Given the description of an element on the screen output the (x, y) to click on. 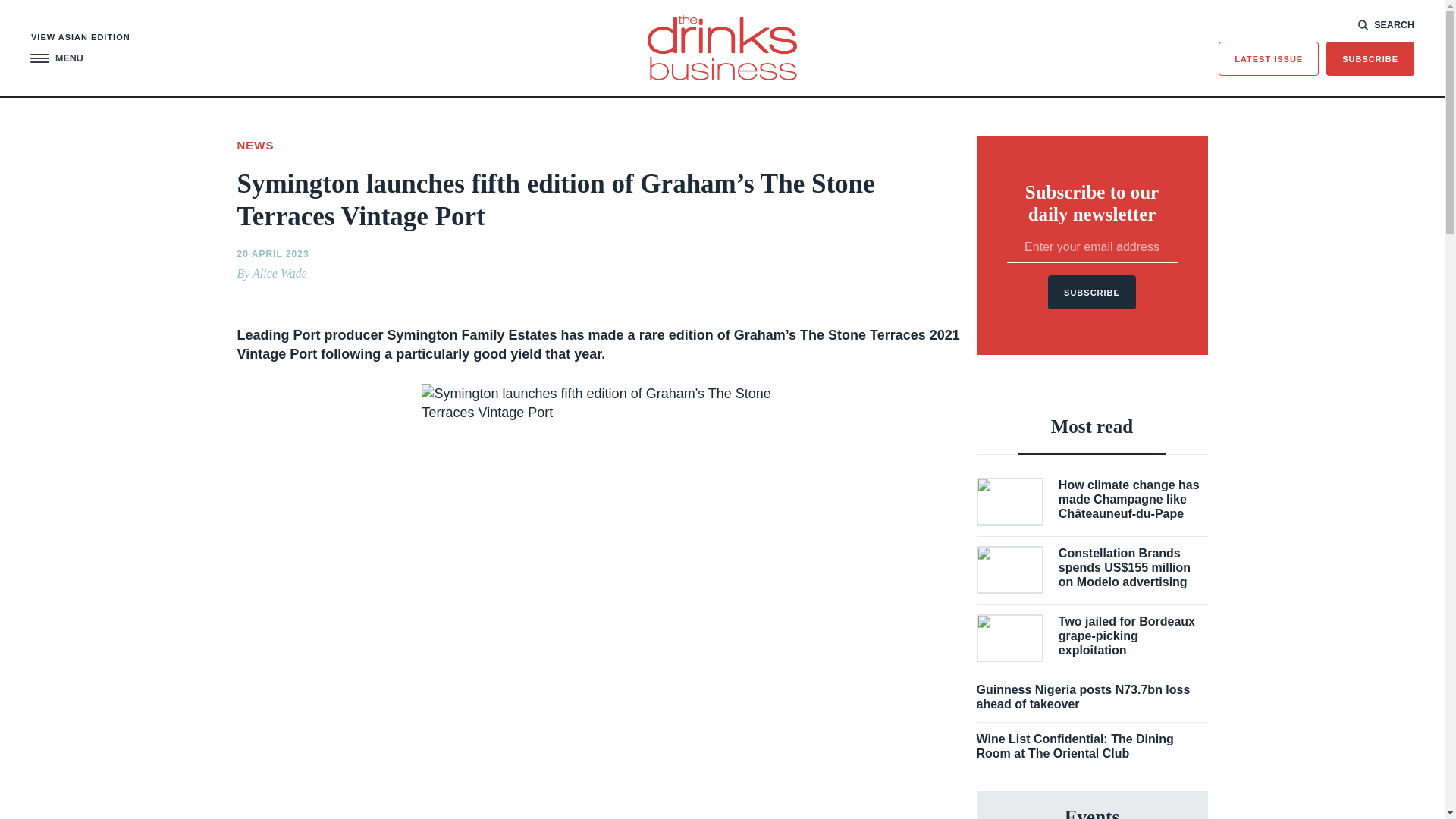
SEARCH (1385, 24)
LATEST ISSUE (1268, 58)
MENU (56, 58)
SUBSCRIBE (1369, 58)
The Drinks Business (721, 47)
VIEW ASIAN EDITION (80, 37)
